Given the description of an element on the screen output the (x, y) to click on. 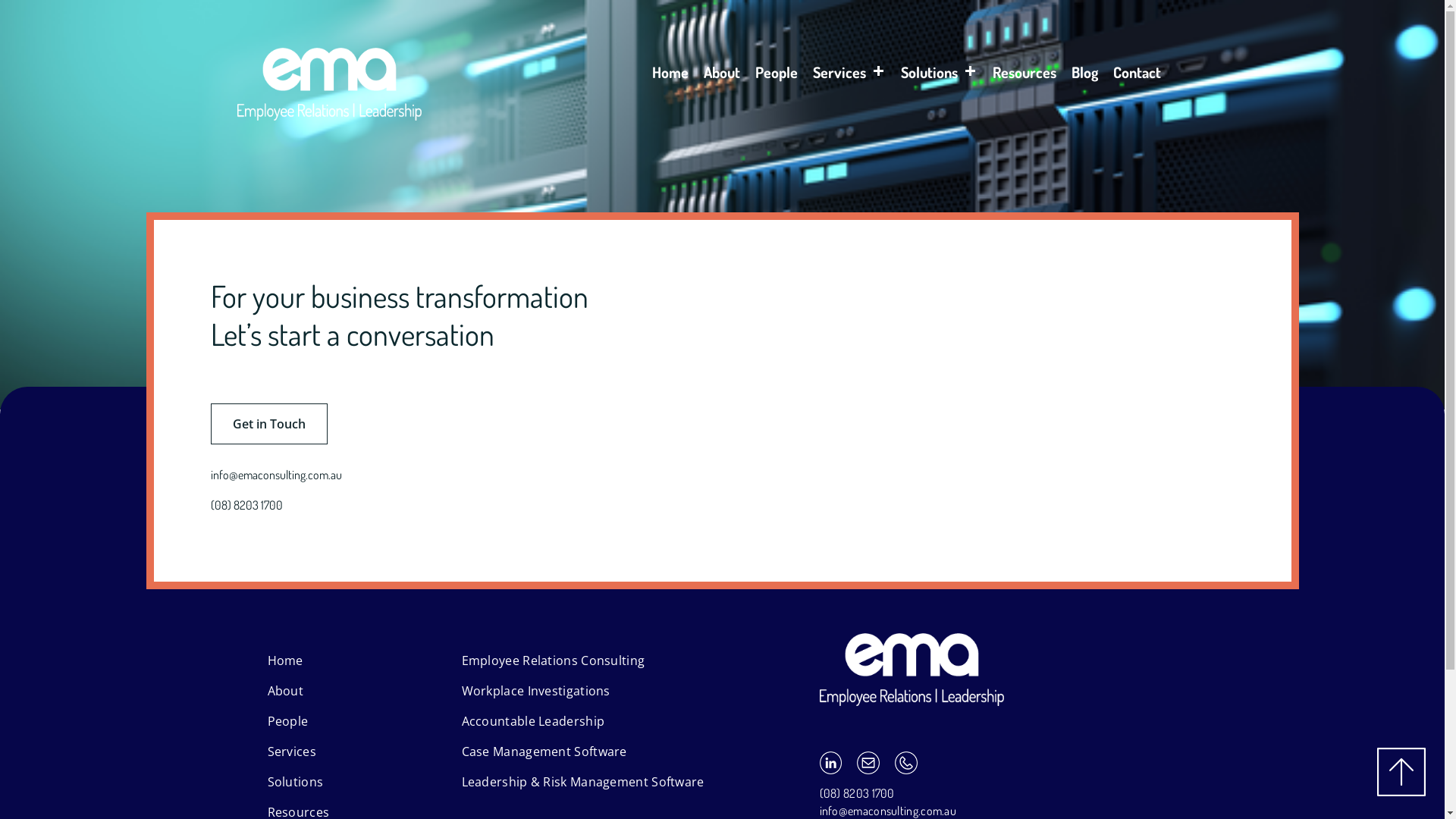
Get in Touch Element type: text (268, 423)
Services Element type: text (290, 751)
Accountable Leadership Element type: text (532, 720)
info@emaconsulting.com.au Element type: text (887, 810)
Employee Relations Consulting Element type: text (552, 660)
Solutions Element type: text (294, 781)
(08) 8203 1700 Element type: text (257, 505)
People Element type: text (776, 77)
Services Element type: text (849, 77)
Resources Element type: text (1024, 77)
Home Element type: text (284, 660)
Contact Element type: text (1136, 77)
Leadership & Risk Management Software Element type: text (582, 781)
Home Element type: text (670, 77)
About Element type: text (721, 77)
About Element type: text (284, 690)
info@emaconsulting.com.au Element type: text (286, 474)
Workplace Investigations Element type: text (535, 690)
Solutions Element type: text (939, 77)
Case Management Software Element type: text (543, 751)
Blog Element type: text (1084, 77)
People Element type: text (286, 720)
